Given the description of an element on the screen output the (x, y) to click on. 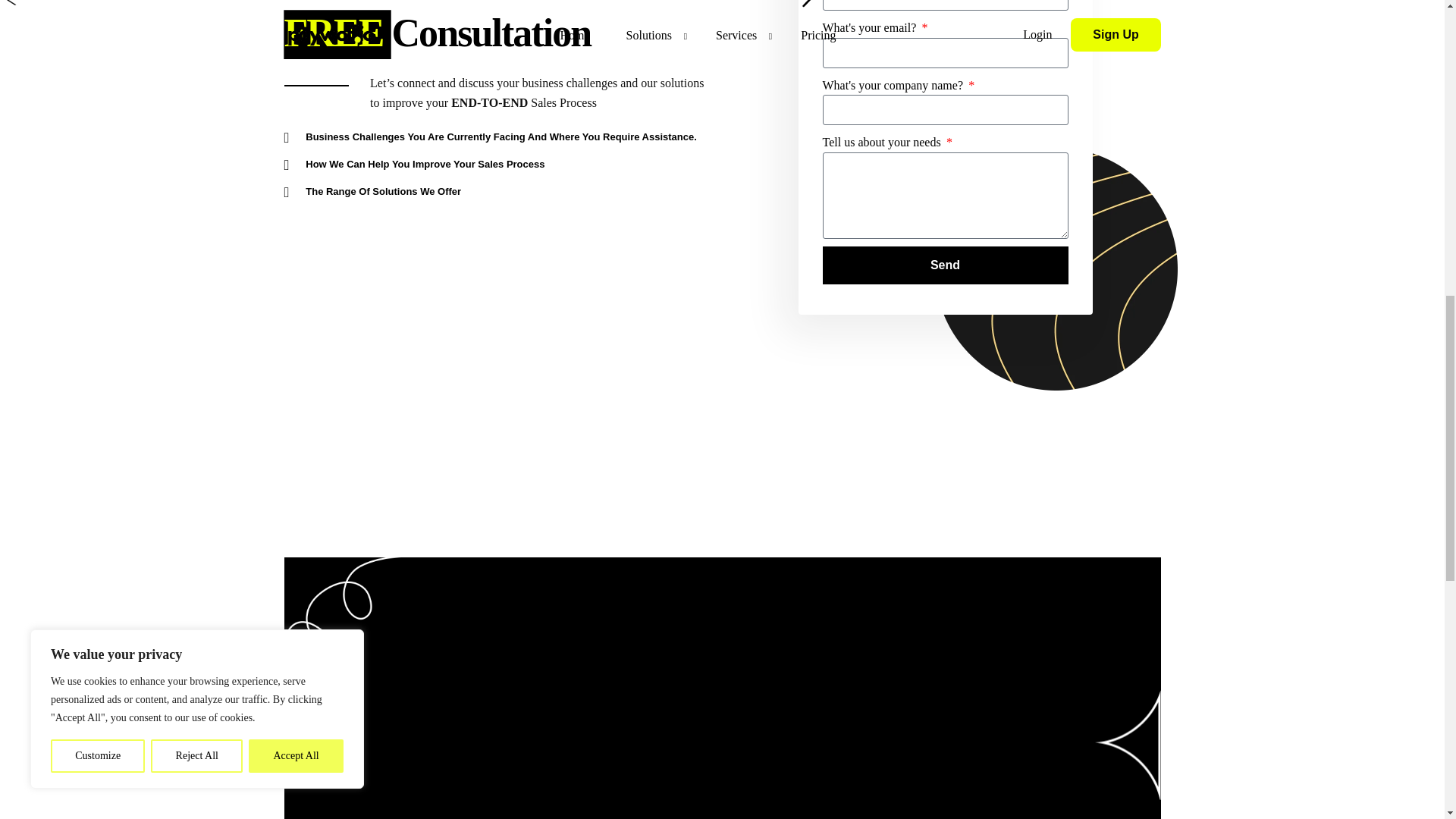
Leads Generation Software (774, 636)
Blog (608, 636)
AI-Powered Conversational Caller (774, 672)
Tutorials (936, 636)
Affiliates (608, 653)
Chrome Extension (774, 653)
Refund Policy (1086, 672)
Privacy Policy (1086, 653)
